Given the description of an element on the screen output the (x, y) to click on. 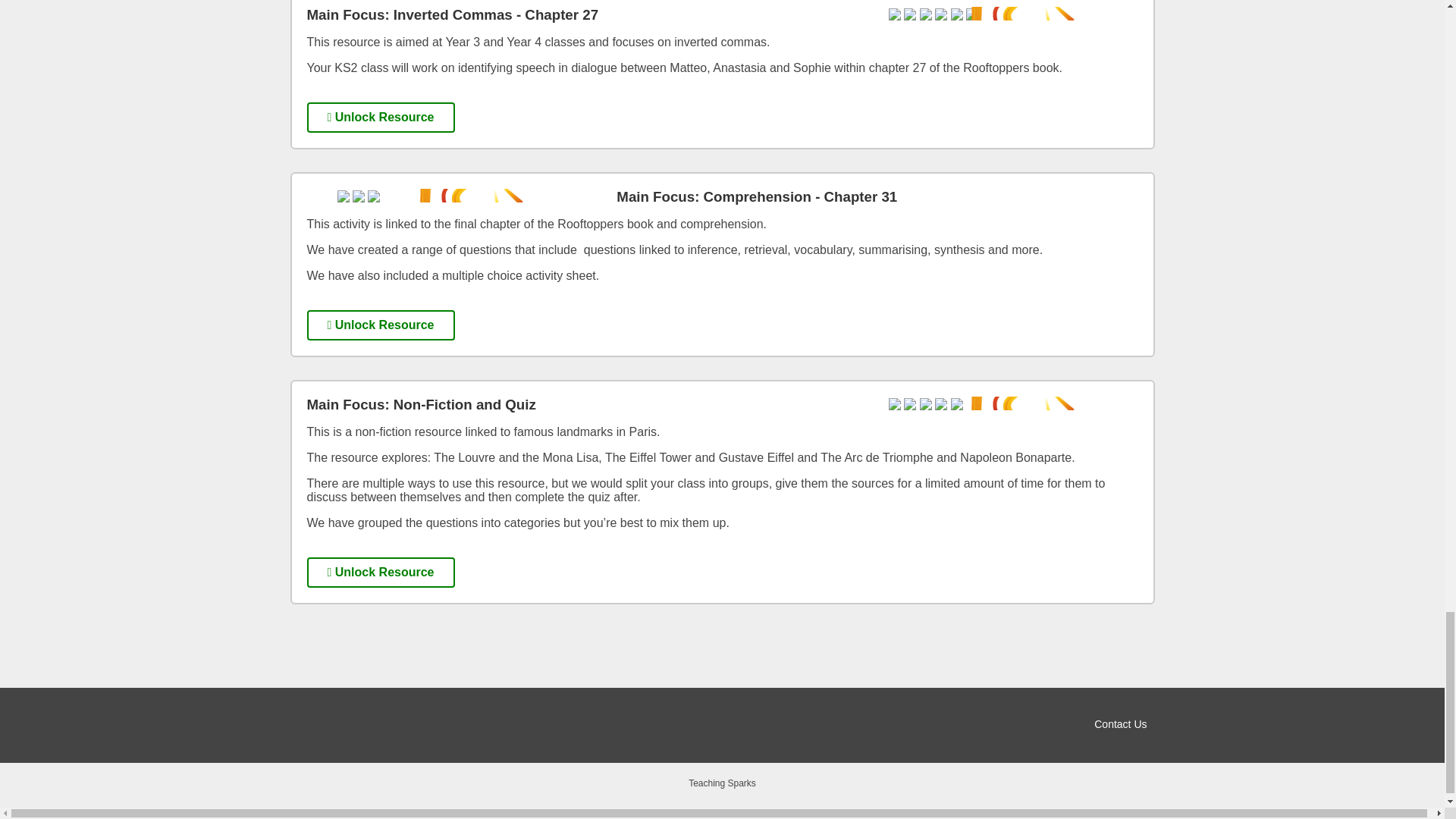
Unlock Resource (379, 117)
Unlock Resource (379, 325)
Contact Us (1120, 724)
Unlock Resource (379, 572)
